Given the description of an element on the screen output the (x, y) to click on. 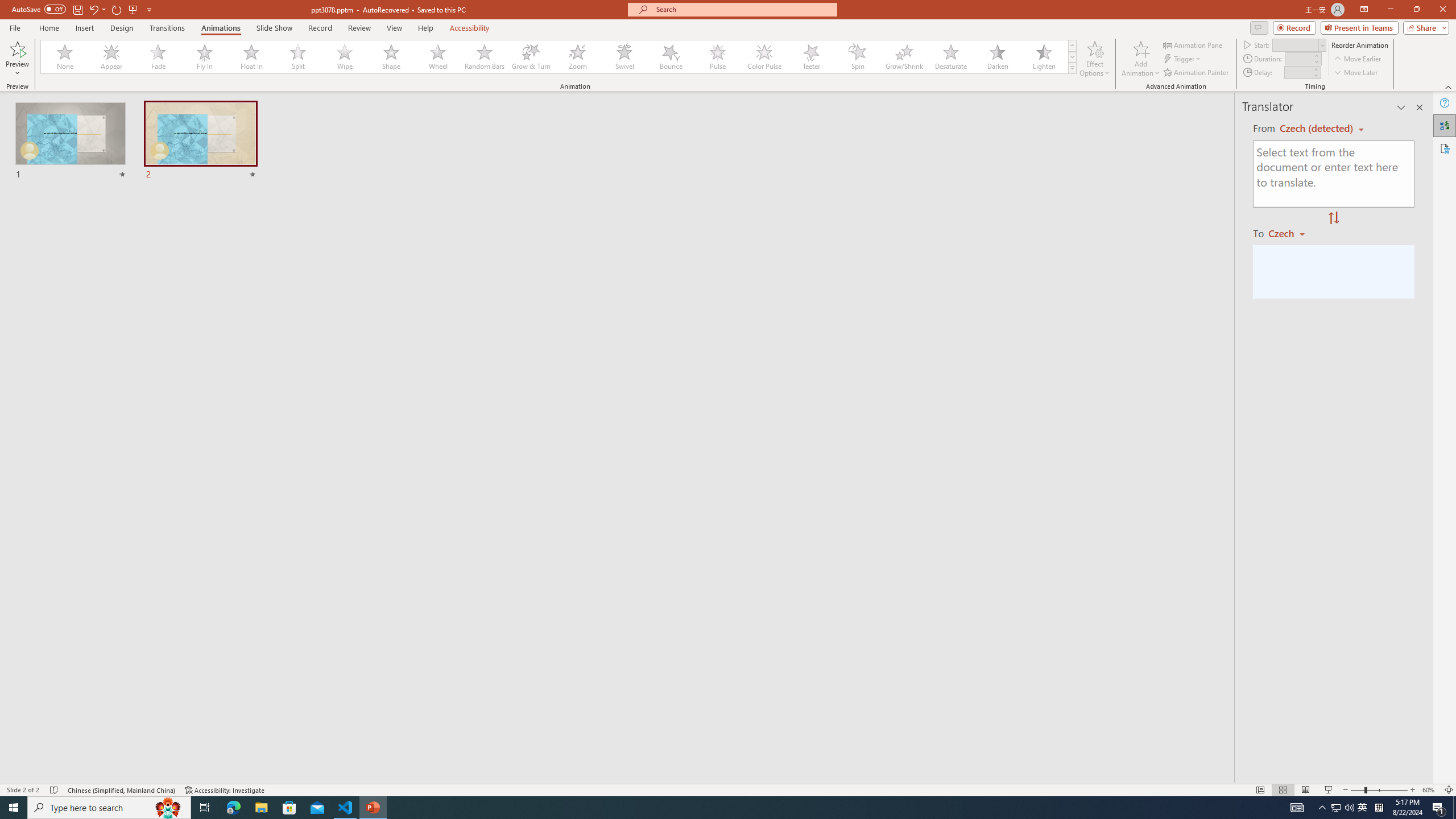
Teeter (810, 56)
Appear (111, 56)
Animation Delay (1297, 72)
